Given the description of an element on the screen output the (x, y) to click on. 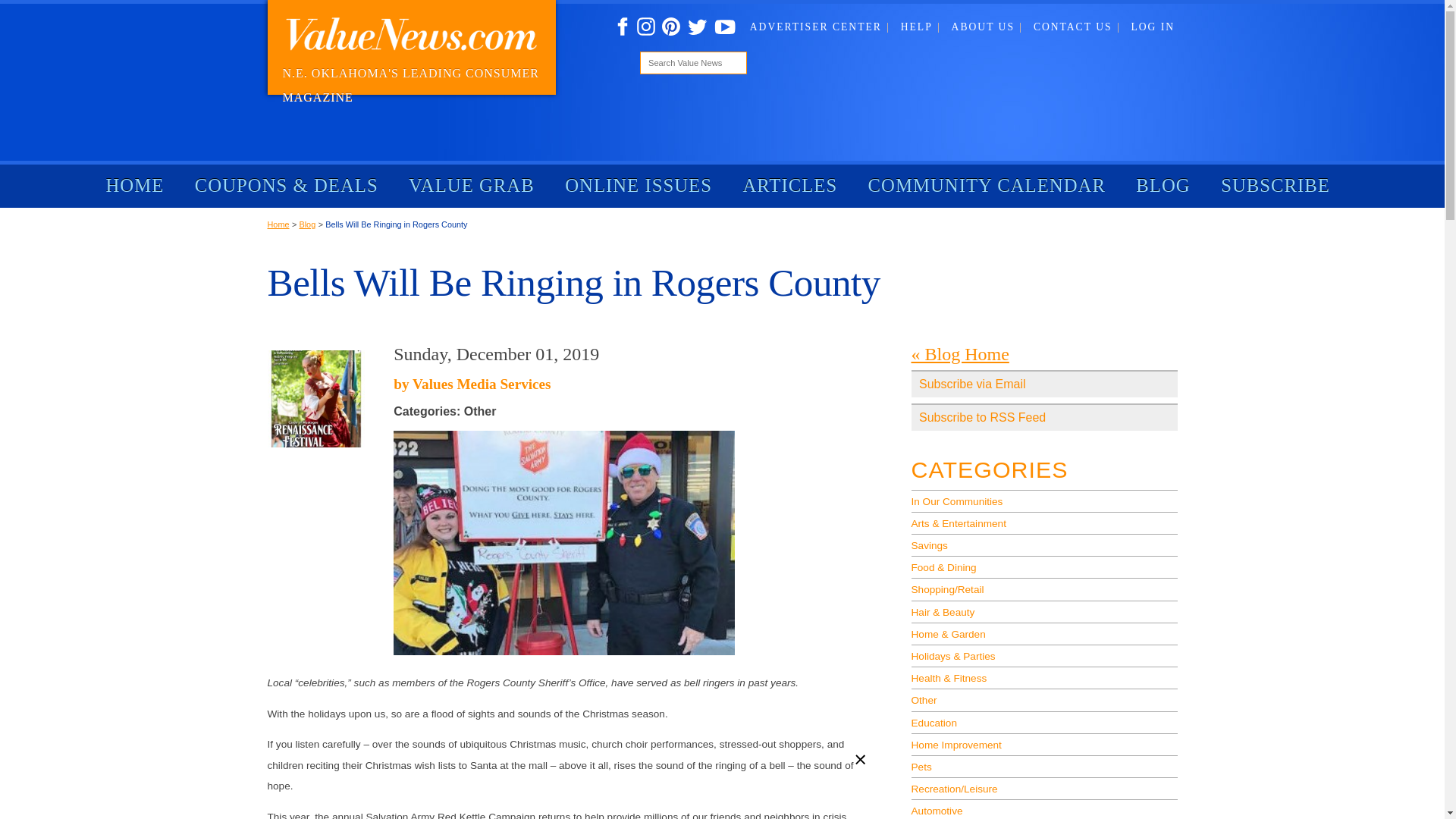
Subscribe to receive an email update of each new blog post. (1044, 383)
Visit the Value News Facebook page. (621, 27)
VALUE GRAB (471, 185)
Subscribe to RSS Feed (1044, 416)
View Blog Posts in the Savings category (1044, 544)
Go to the main Blog page. (960, 353)
ARTICLES (789, 185)
CONTACT US (1077, 27)
ADVERTISER CENTER (819, 27)
ABOUT US (987, 27)
Savings (1044, 544)
Subscribe to the Value News Tulsa Values Blog (1044, 416)
Blog (306, 224)
Visit the Value News Pinterest page. (670, 27)
